Given the description of an element on the screen output the (x, y) to click on. 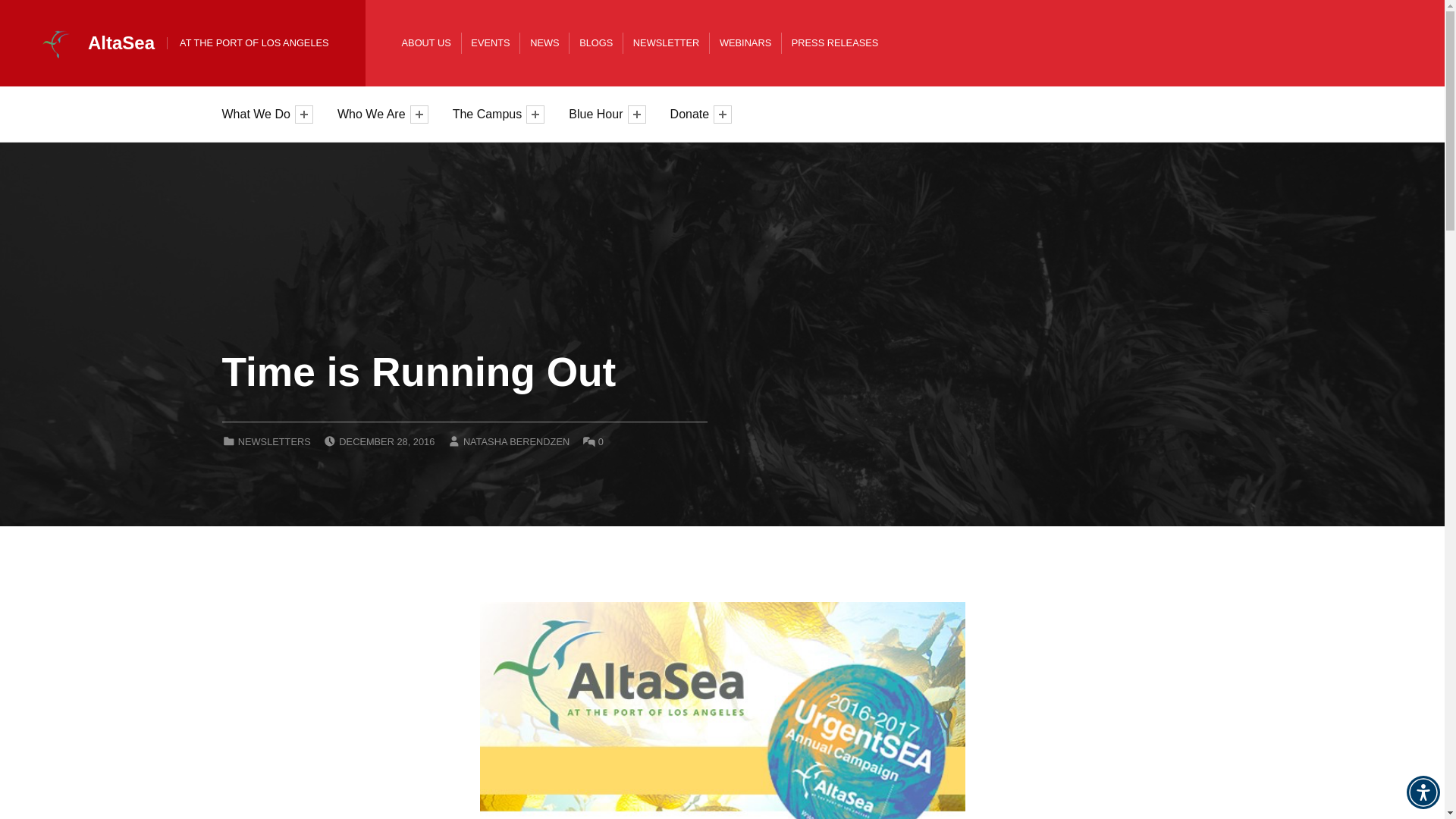
Accessibility Menu (1422, 792)
EVENTS (489, 42)
AltaSea (120, 42)
Posted on: December 28, 2016 (386, 441)
BLOGS (595, 42)
ABOUT US (426, 42)
NEWS (544, 42)
Blue Hour (598, 114)
WEBINARS (745, 42)
Who We Are (373, 114)
NEWSLETTER (665, 42)
PRESS RELEASES (835, 42)
What We Do (258, 114)
The Campus (489, 114)
